Given the description of an element on the screen output the (x, y) to click on. 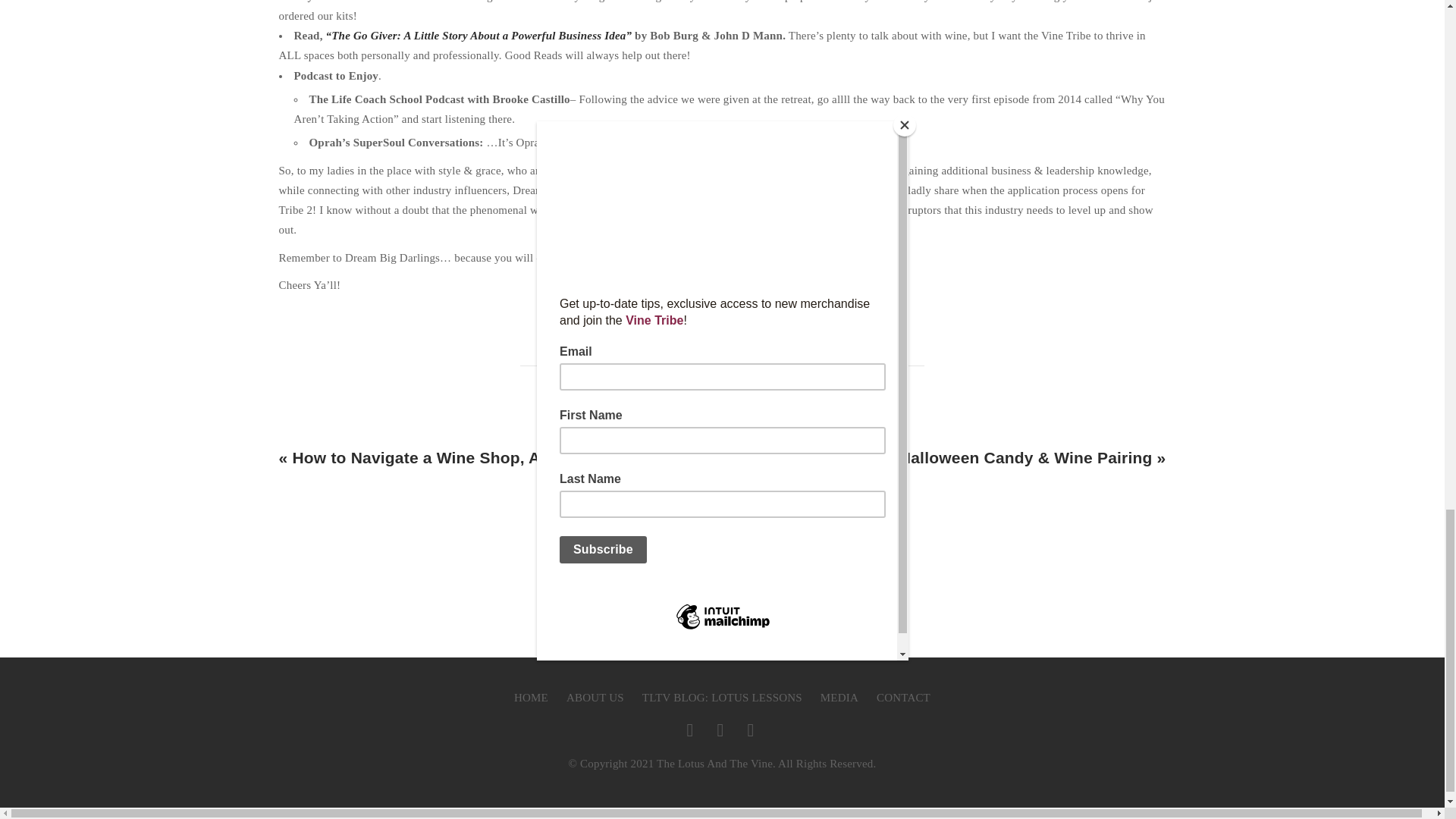
TLTV BLOG: LOTUS LESSONS (722, 697)
Instagram (749, 730)
MEDIA (840, 697)
Facebook (690, 730)
ABOUT US (595, 697)
Twitter (719, 730)
HOME (530, 697)
